Given the description of an element on the screen output the (x, y) to click on. 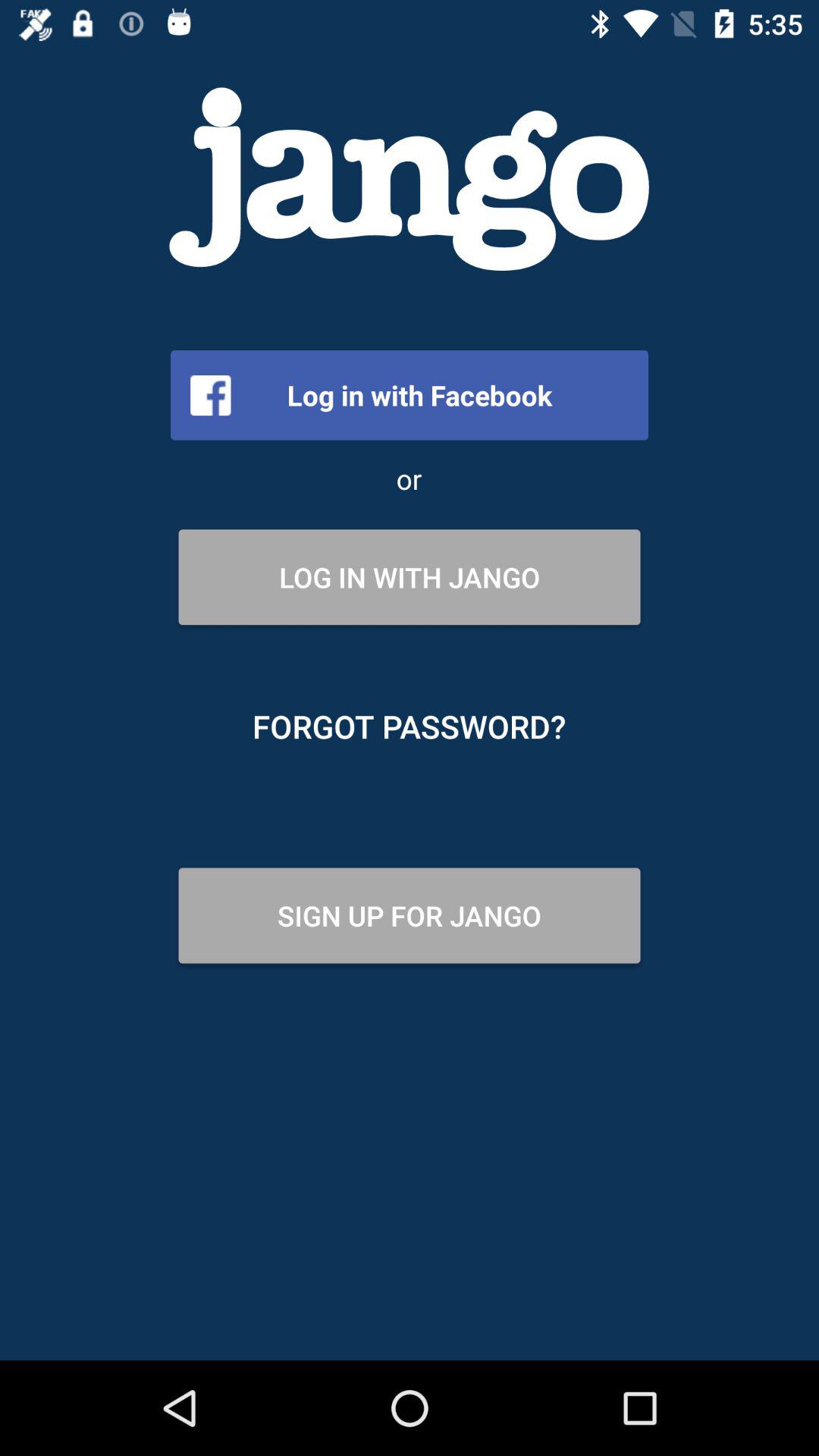
select the item above sign up for item (408, 726)
